Given the description of an element on the screen output the (x, y) to click on. 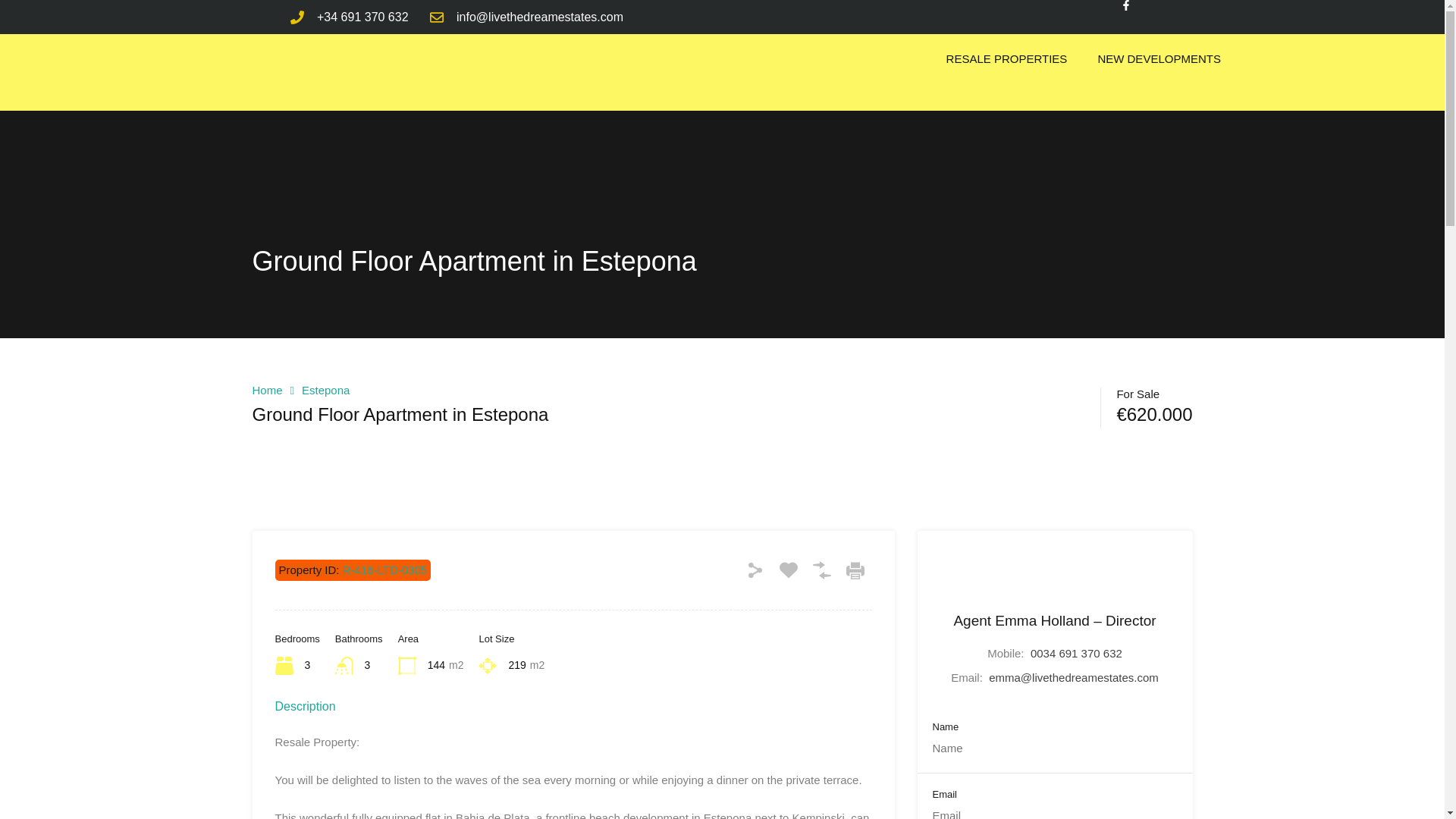
Estepona (325, 390)
NEW DEVELOPMENTS (1158, 58)
Home (266, 390)
RESALE PROPERTIES (1007, 58)
